Given the description of an element on the screen output the (x, y) to click on. 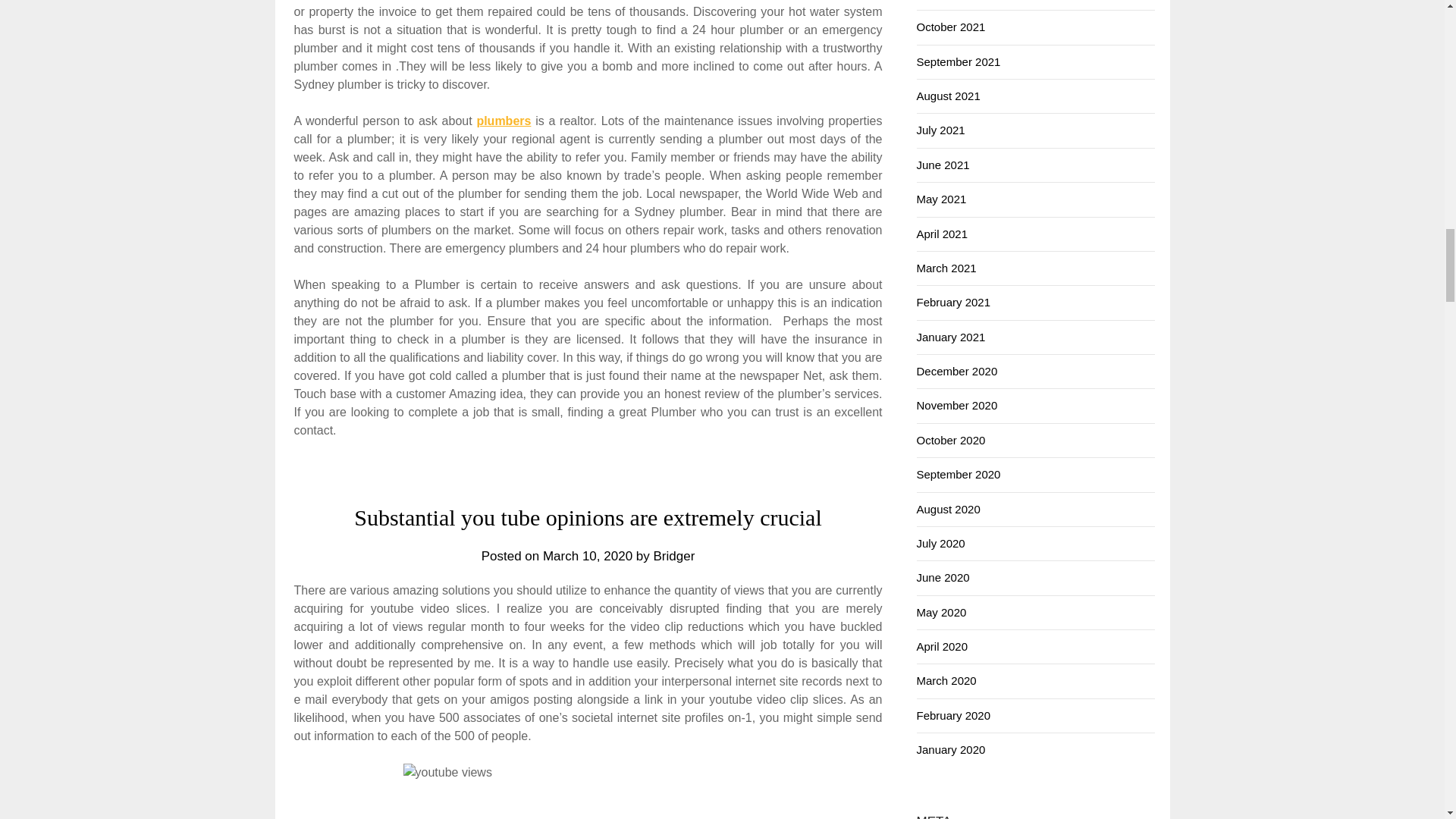
March 10, 2020 (587, 555)
Substantial you tube opinions are extremely crucial (587, 517)
Bridger (674, 555)
plumbers (503, 120)
